Given the description of an element on the screen output the (x, y) to click on. 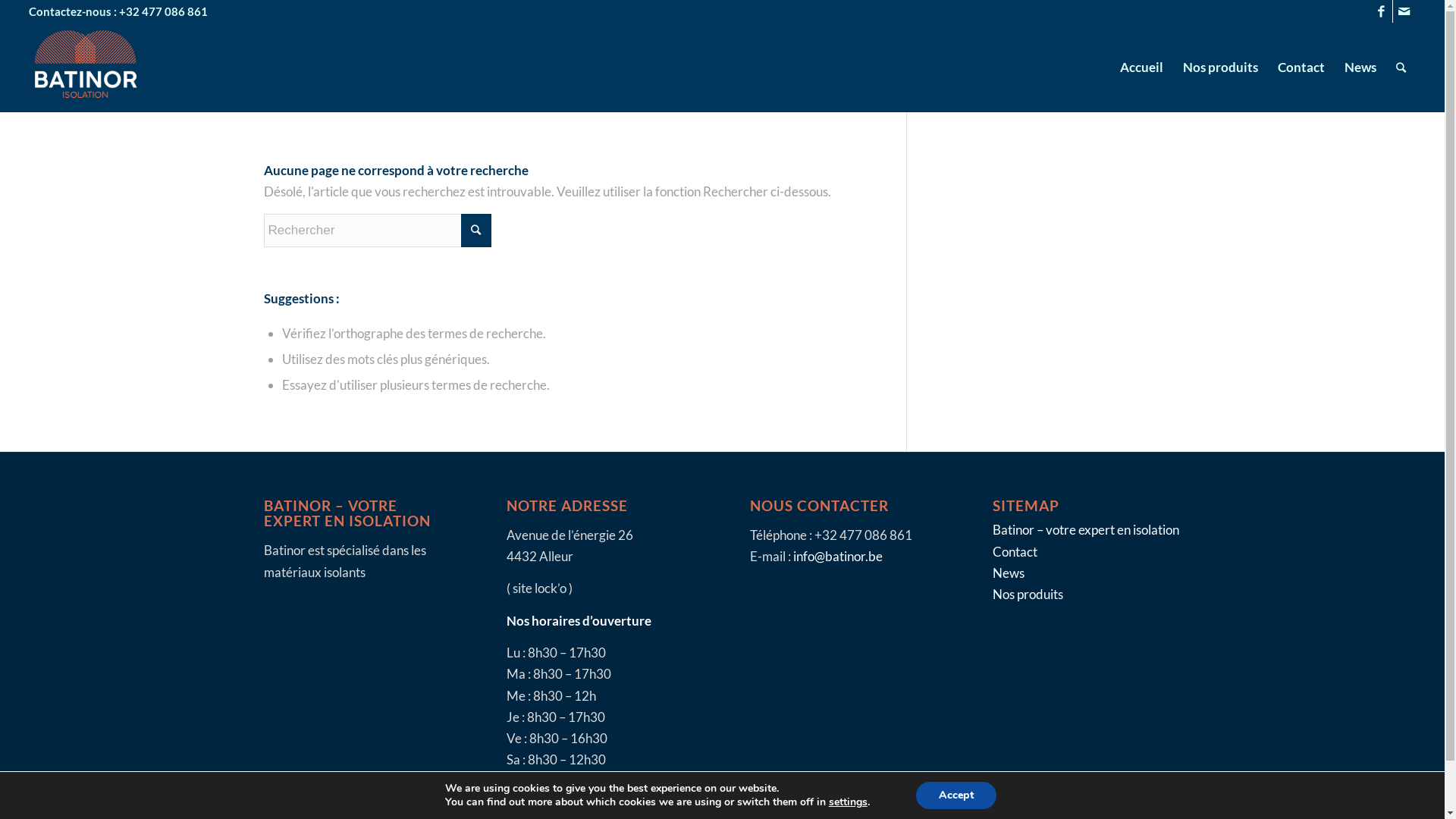
info@batinor.be Element type: text (837, 556)
News Element type: text (1008, 572)
News Element type: text (1360, 67)
Mail Element type: hover (1404, 11)
Contact Element type: text (1014, 551)
Nos produits Element type: text (1027, 594)
Accueil Element type: text (1141, 67)
Accept Element type: text (956, 795)
Contact Element type: text (1300, 67)
Nos produits Element type: text (1220, 67)
Facebook Element type: hover (1381, 11)
